Given the description of an element on the screen output the (x, y) to click on. 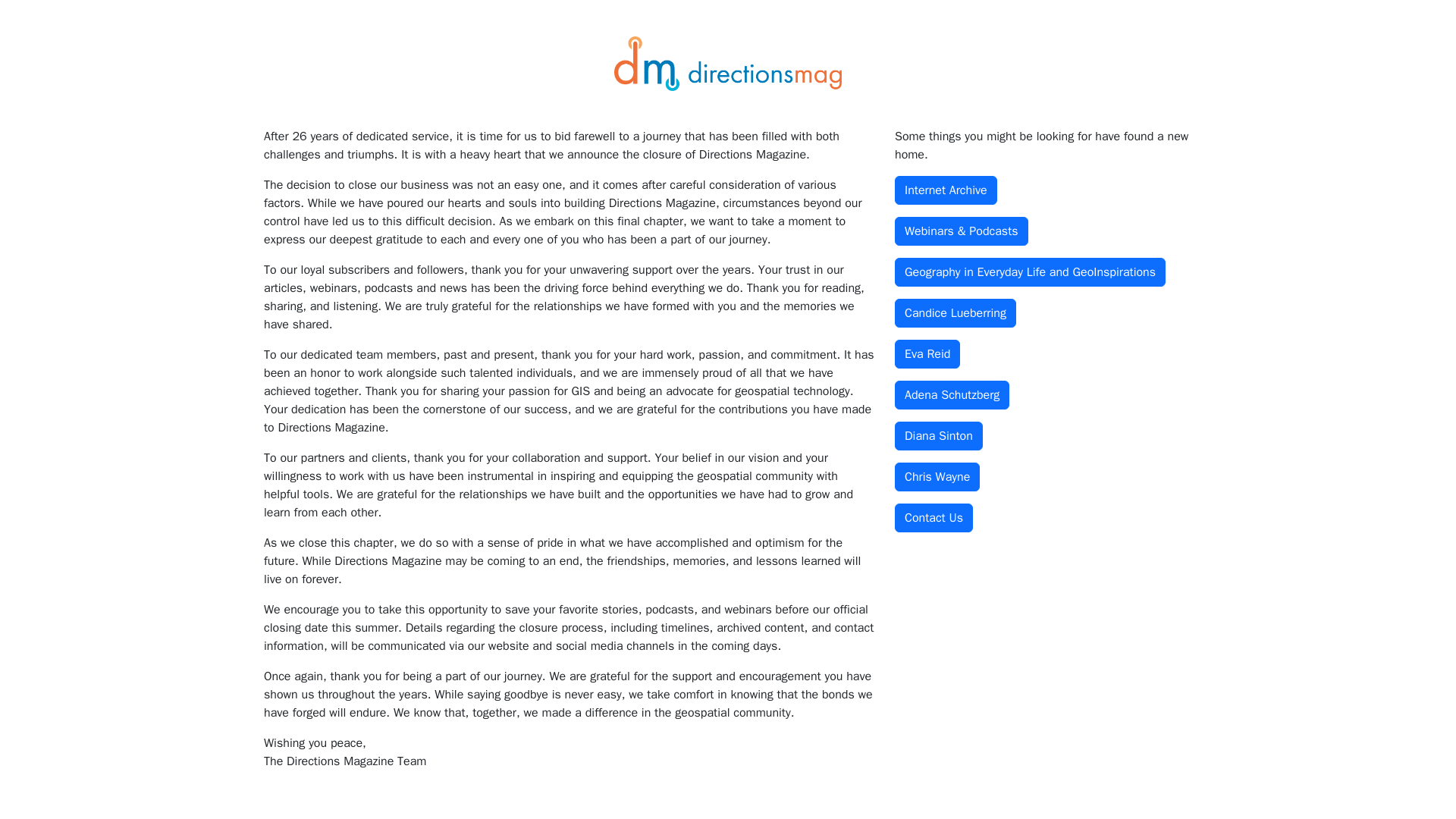
Adena Schutzberg (952, 394)
Candice Lueberring (955, 312)
Geography in Everyday Life and GeoInspirations (1030, 271)
Diana Sinton (938, 435)
Internet Archive (946, 190)
Eva Reid (927, 353)
Contact Us (933, 517)
Chris Wayne (937, 476)
